Given the description of an element on the screen output the (x, y) to click on. 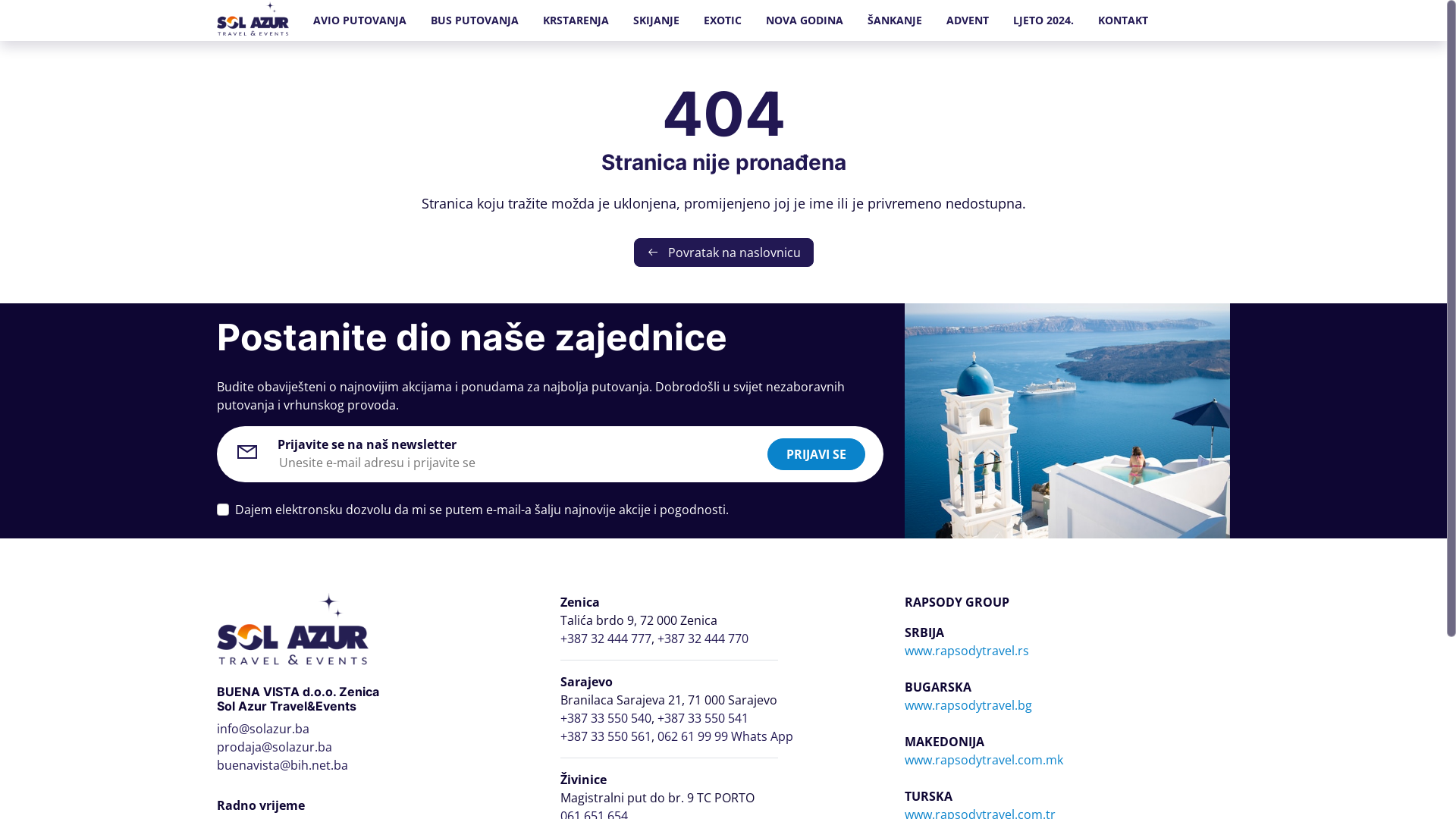
EXOTIC Element type: text (722, 20)
NOVA GODINA Element type: text (804, 20)
KRSTARENJA Element type: text (575, 20)
+387 33 550 540 Element type: text (605, 717)
+387 33 550 541 Element type: text (702, 717)
062 61 99 99 Whats App Element type: text (725, 736)
Radno vrijeme Element type: text (260, 805)
ADVENT Element type: text (967, 20)
info@solazur.ba Element type: text (262, 728)
prodaja@solazur.ba Element type: text (274, 746)
Povratak na naslovnicu Element type: text (723, 252)
www.rapsodytravel.rs Element type: text (966, 650)
KONTAKT Element type: text (1122, 20)
AVIO PUTOVANJA Element type: text (359, 20)
www.rapsodytravel.com.mk Element type: text (983, 759)
LJETO 2024. Element type: text (1043, 20)
buenavista@bih.net.ba Element type: text (282, 764)
+387 32 444 770 Element type: text (702, 638)
www.rapsodytravel.bg Element type: text (968, 704)
BUS PUTOVANJA Element type: text (474, 20)
+387 33 550 561 Element type: text (605, 736)
SKIJANJE Element type: text (656, 20)
+387 32 444 777 Element type: text (605, 638)
PRIJAVI SE Element type: text (816, 454)
